Given the description of an element on the screen output the (x, y) to click on. 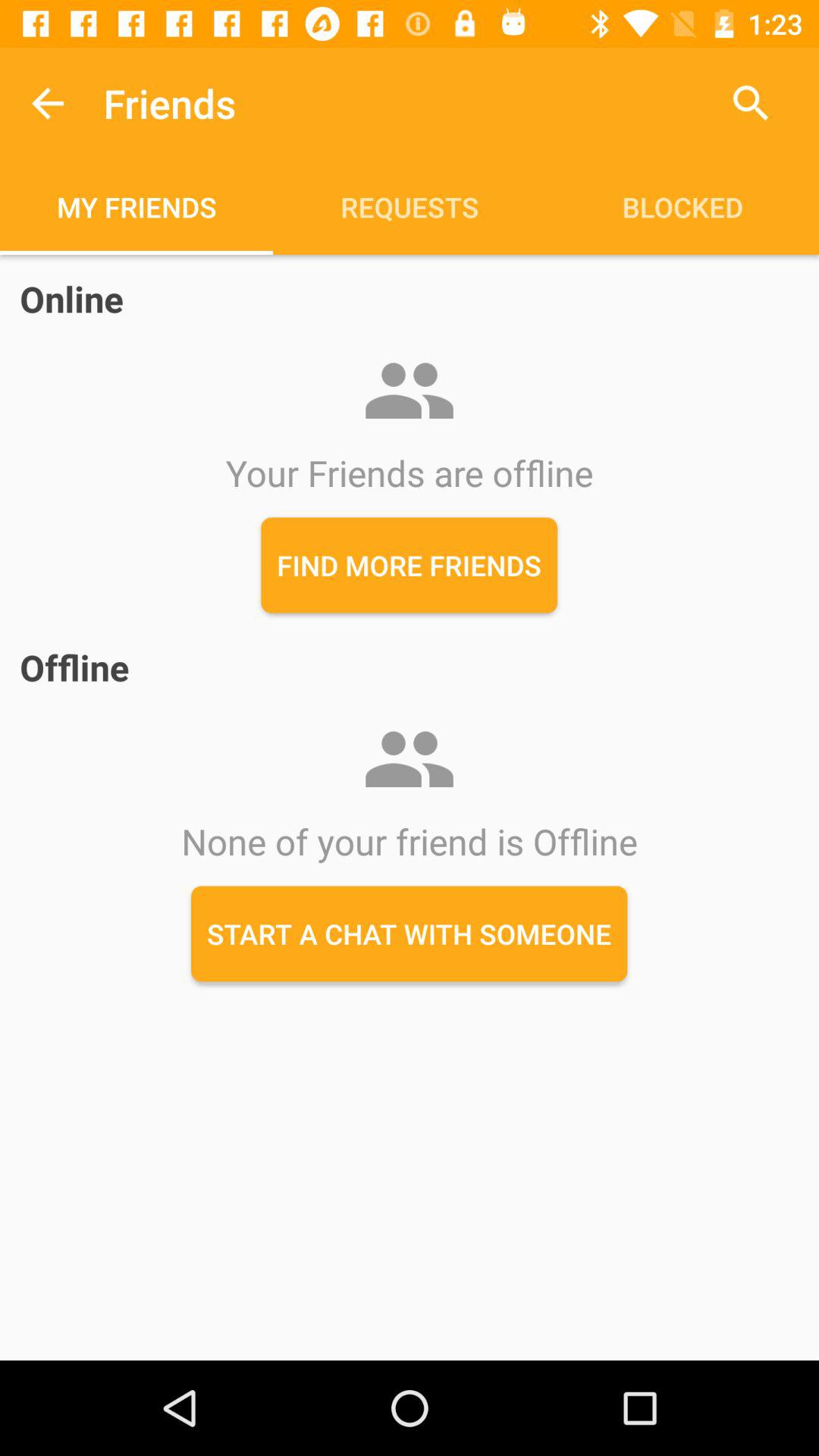
select icon above the my friends item (47, 103)
